Given the description of an element on the screen output the (x, y) to click on. 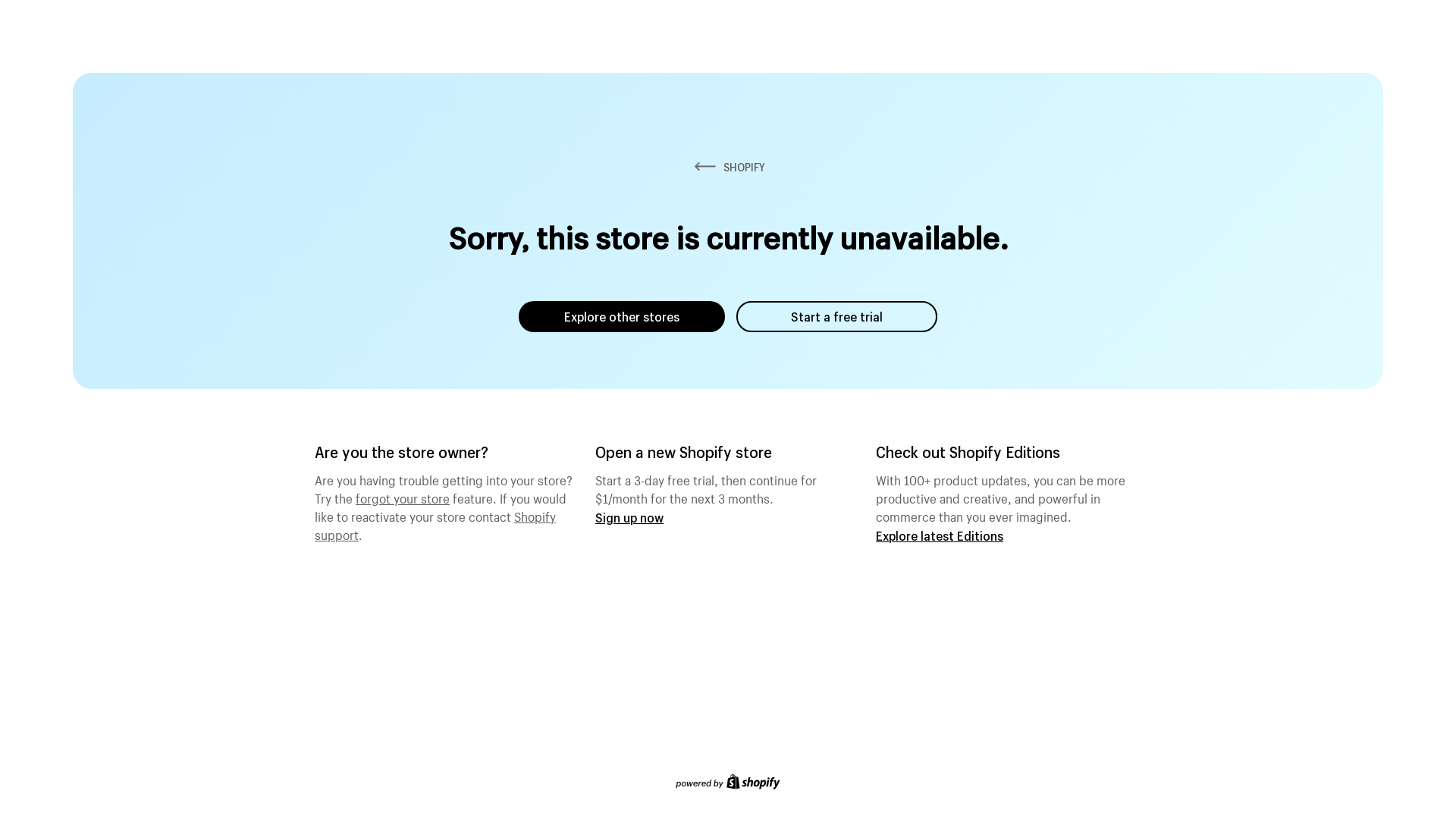
forgot your store Element type: text (402, 496)
Shopify support Element type: text (434, 523)
SHOPIFY Element type: text (727, 167)
Explore other stores Element type: text (621, 316)
Explore latest Editions Element type: text (939, 535)
Start a free trial Element type: text (836, 316)
Sign up now Element type: text (629, 517)
